Given the description of an element on the screen output the (x, y) to click on. 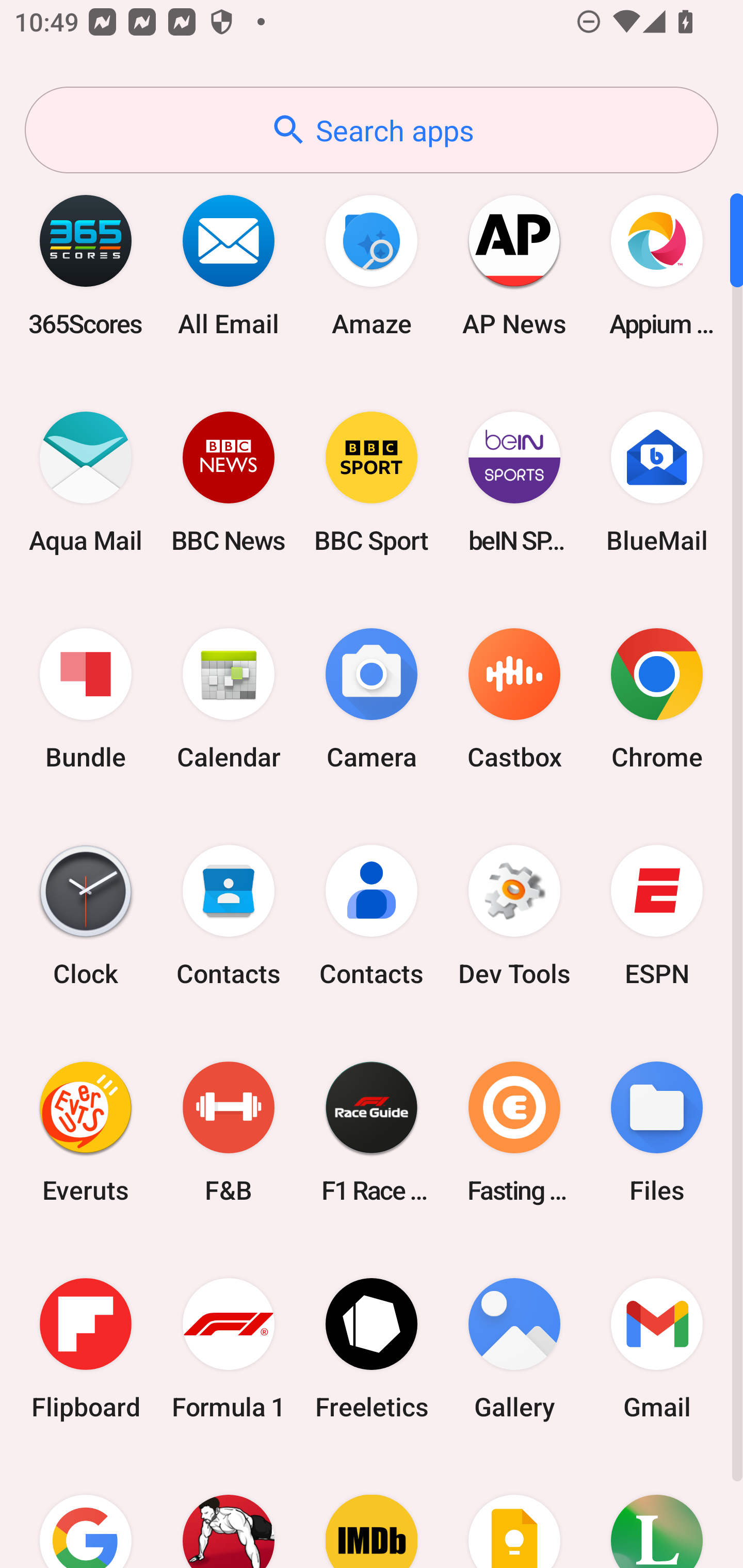
  Search apps (371, 130)
365Scores (85, 264)
All Email (228, 264)
Amaze (371, 264)
AP News (514, 264)
Appium Settings (656, 264)
Aqua Mail (85, 482)
BBC News (228, 482)
BBC Sport (371, 482)
beIN SPORTS (514, 482)
BlueMail (656, 482)
Bundle (85, 699)
Calendar (228, 699)
Camera (371, 699)
Castbox (514, 699)
Chrome (656, 699)
Clock (85, 915)
Contacts (228, 915)
Contacts (371, 915)
Dev Tools (514, 915)
ESPN (656, 915)
Everuts (85, 1131)
F&B (228, 1131)
F1 Race Guide (371, 1131)
Fasting Coach (514, 1131)
Files (656, 1131)
Flipboard (85, 1348)
Formula 1 (228, 1348)
Freeletics (371, 1348)
Gallery (514, 1348)
Gmail (656, 1348)
Google (85, 1512)
Home Workout (228, 1512)
IMDb (371, 1512)
Keep Notes (514, 1512)
Lifesum (656, 1512)
